Given the description of an element on the screen output the (x, y) to click on. 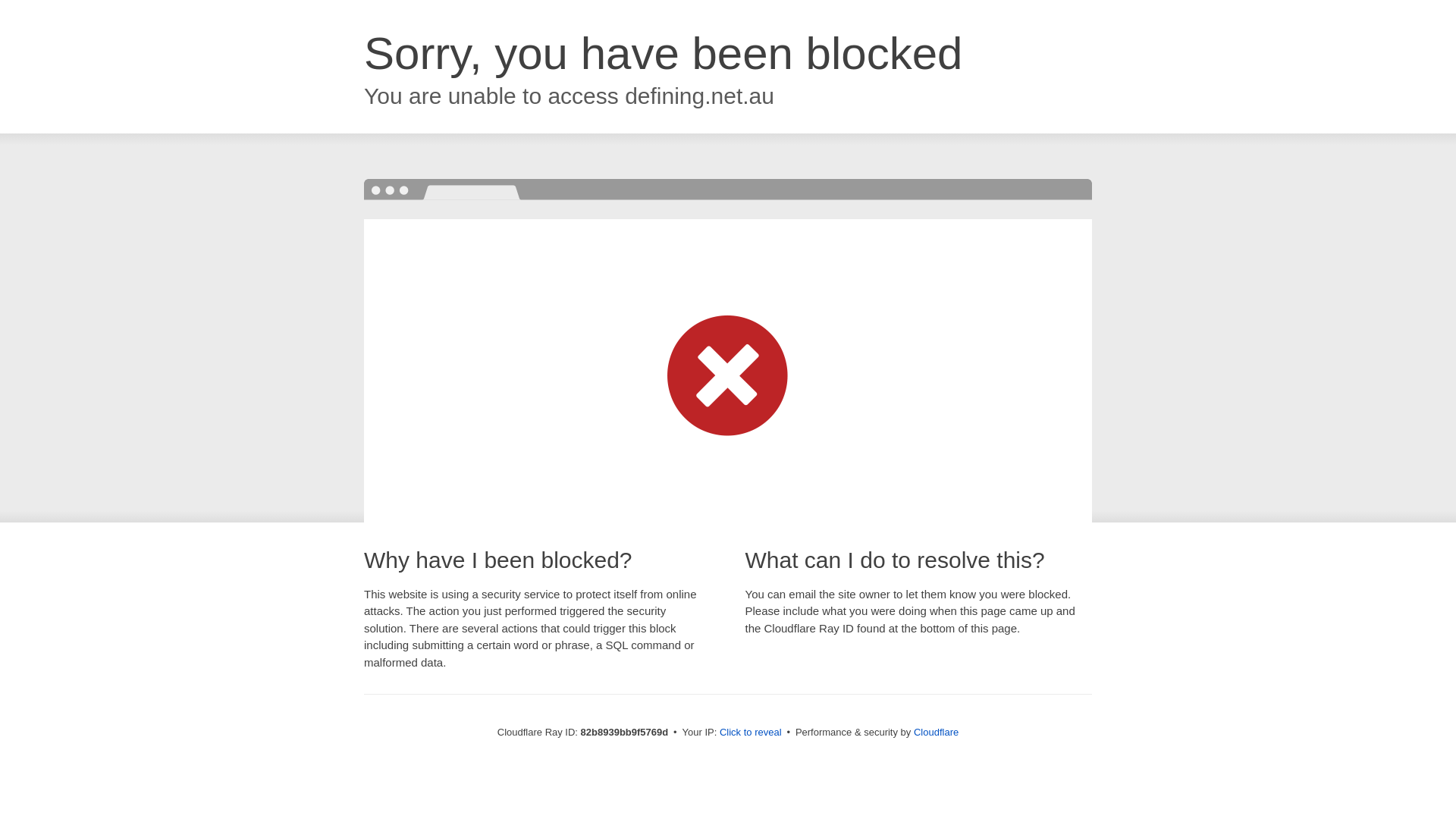
Click to reveal Element type: text (750, 732)
Cloudflare Element type: text (935, 731)
